Given the description of an element on the screen output the (x, y) to click on. 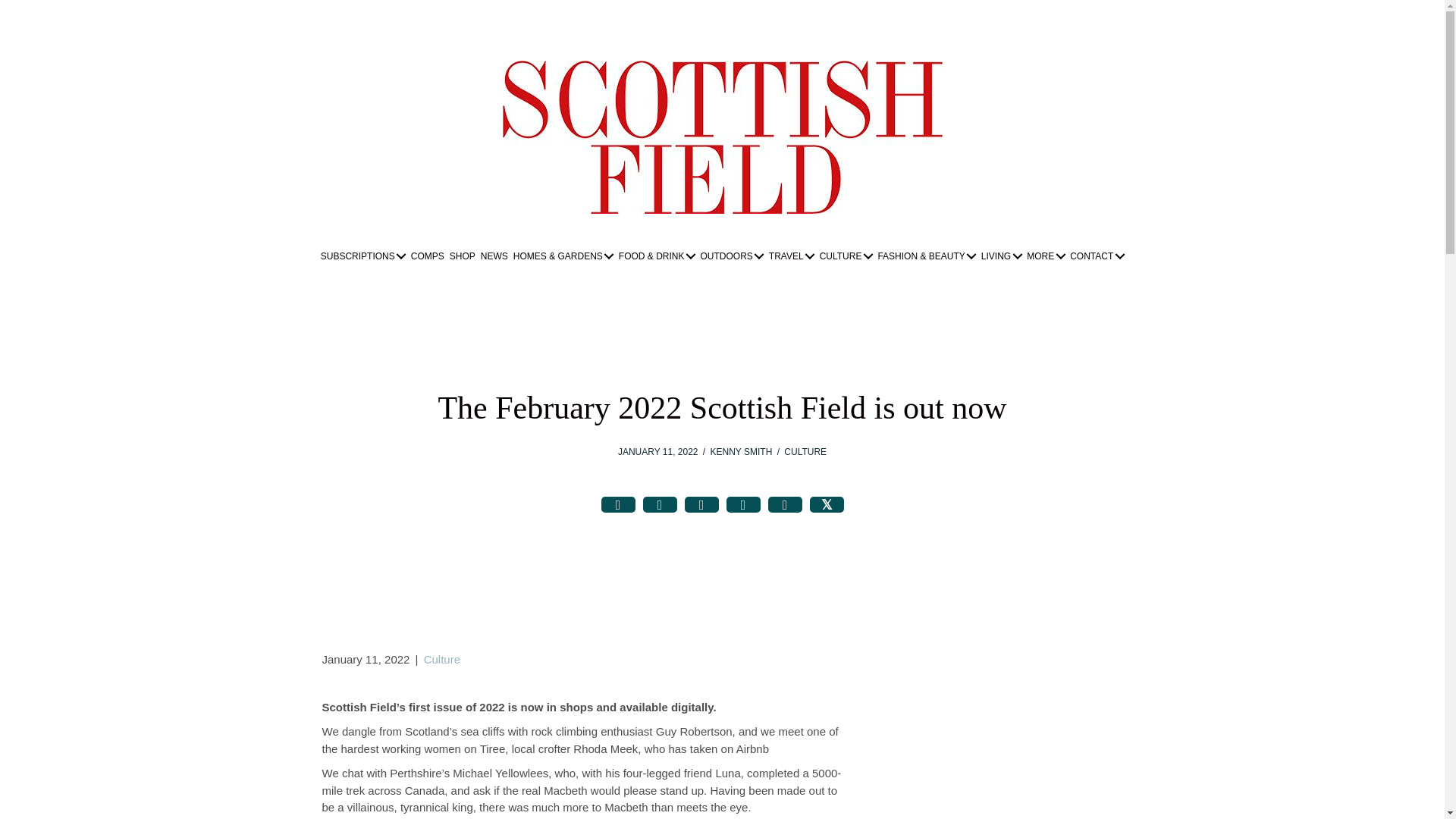
Scottish Field Lifestyle Magazine (722, 136)
SHOP (461, 255)
COMPS (427, 255)
NEWS (495, 255)
CULTURE (845, 255)
OUTDOORS (731, 255)
TRAVEL (791, 255)
SUBSCRIPTIONS (362, 255)
